Given the description of an element on the screen output the (x, y) to click on. 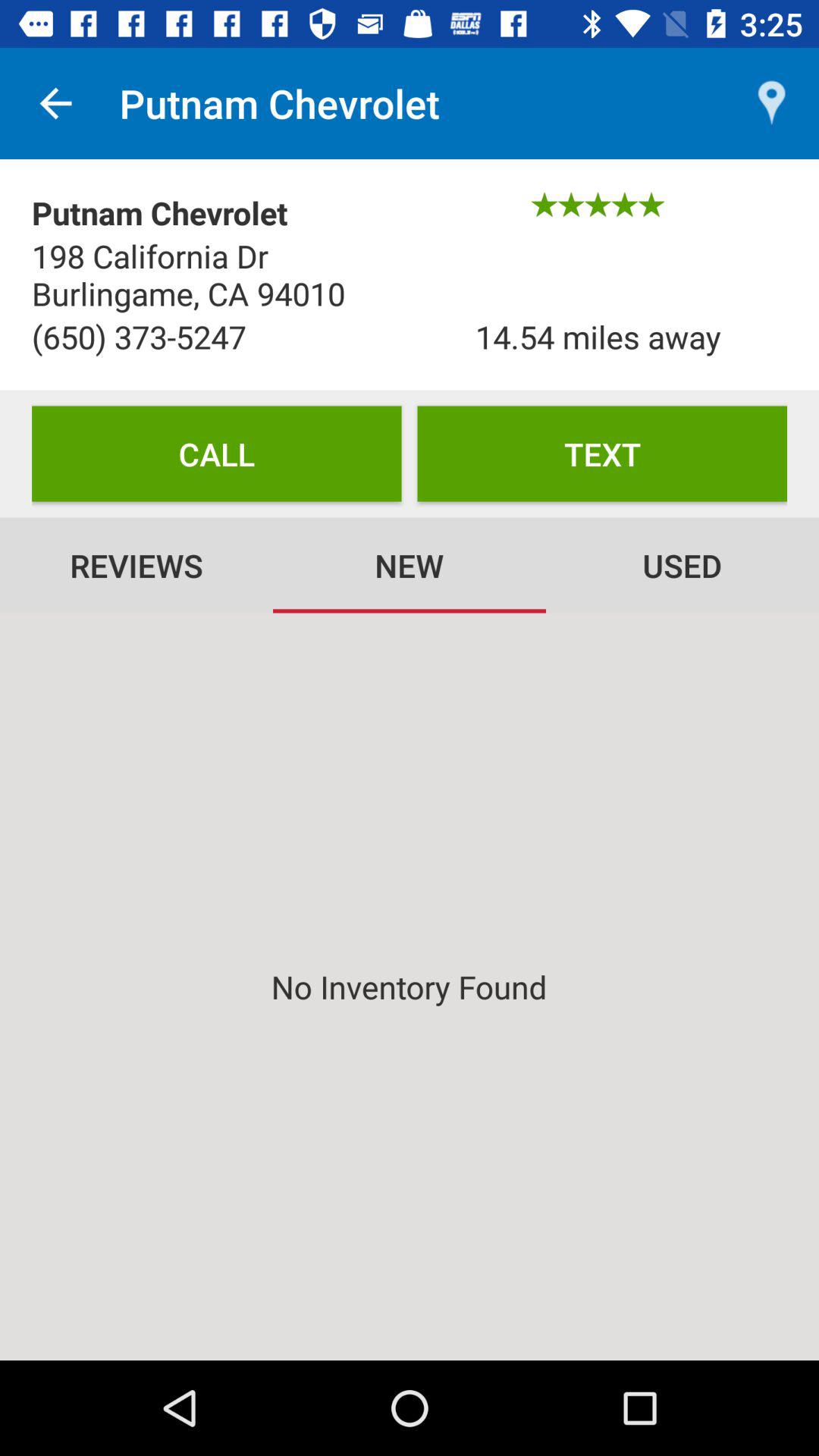
select icon to the left of putnam chevrolet app (55, 103)
